Given the description of an element on the screen output the (x, y) to click on. 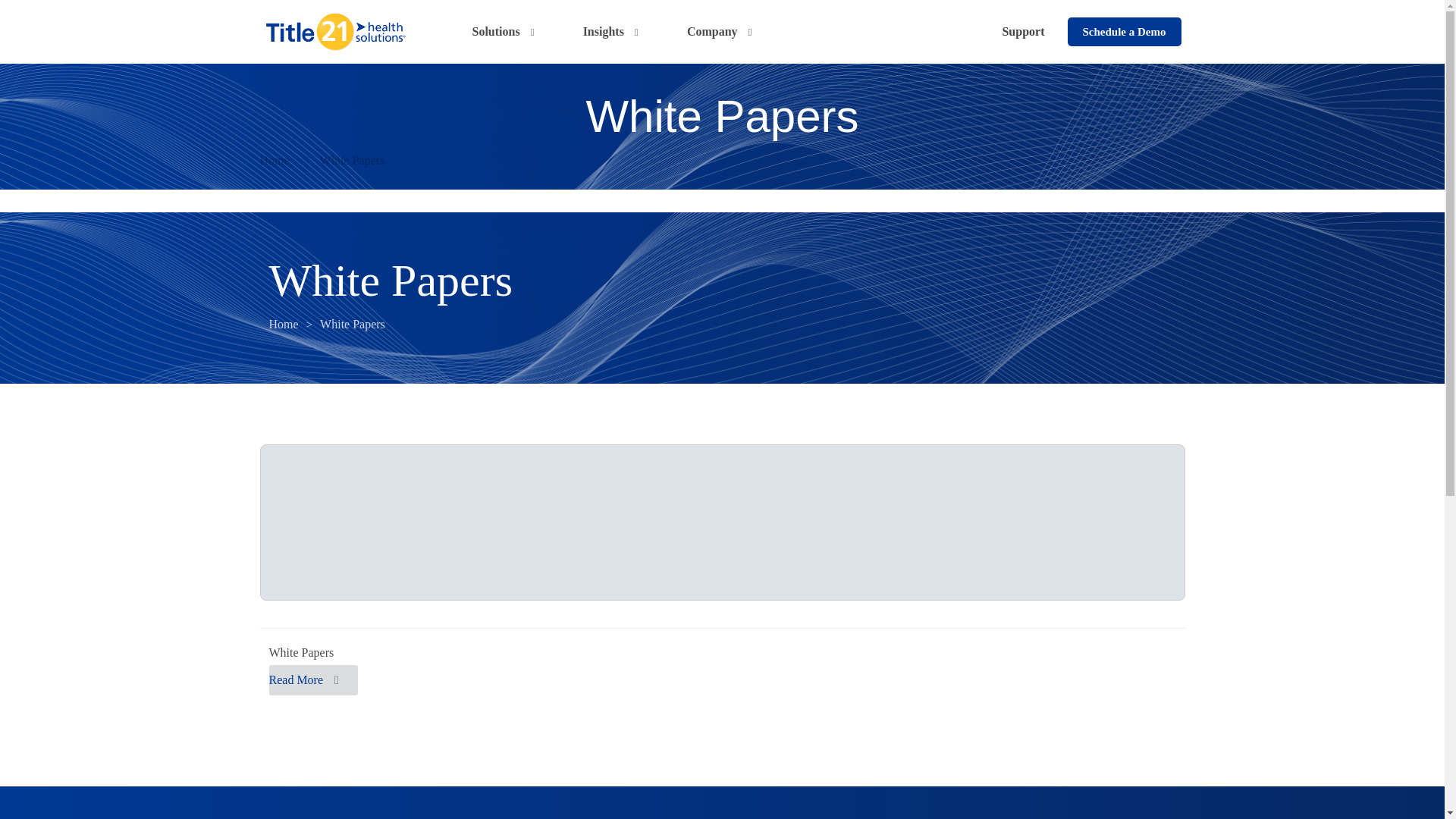
Support (1023, 31)
Solutions (503, 31)
Schedule a Demo (1123, 31)
Insights (611, 31)
Company (720, 31)
